Given the description of an element on the screen output the (x, y) to click on. 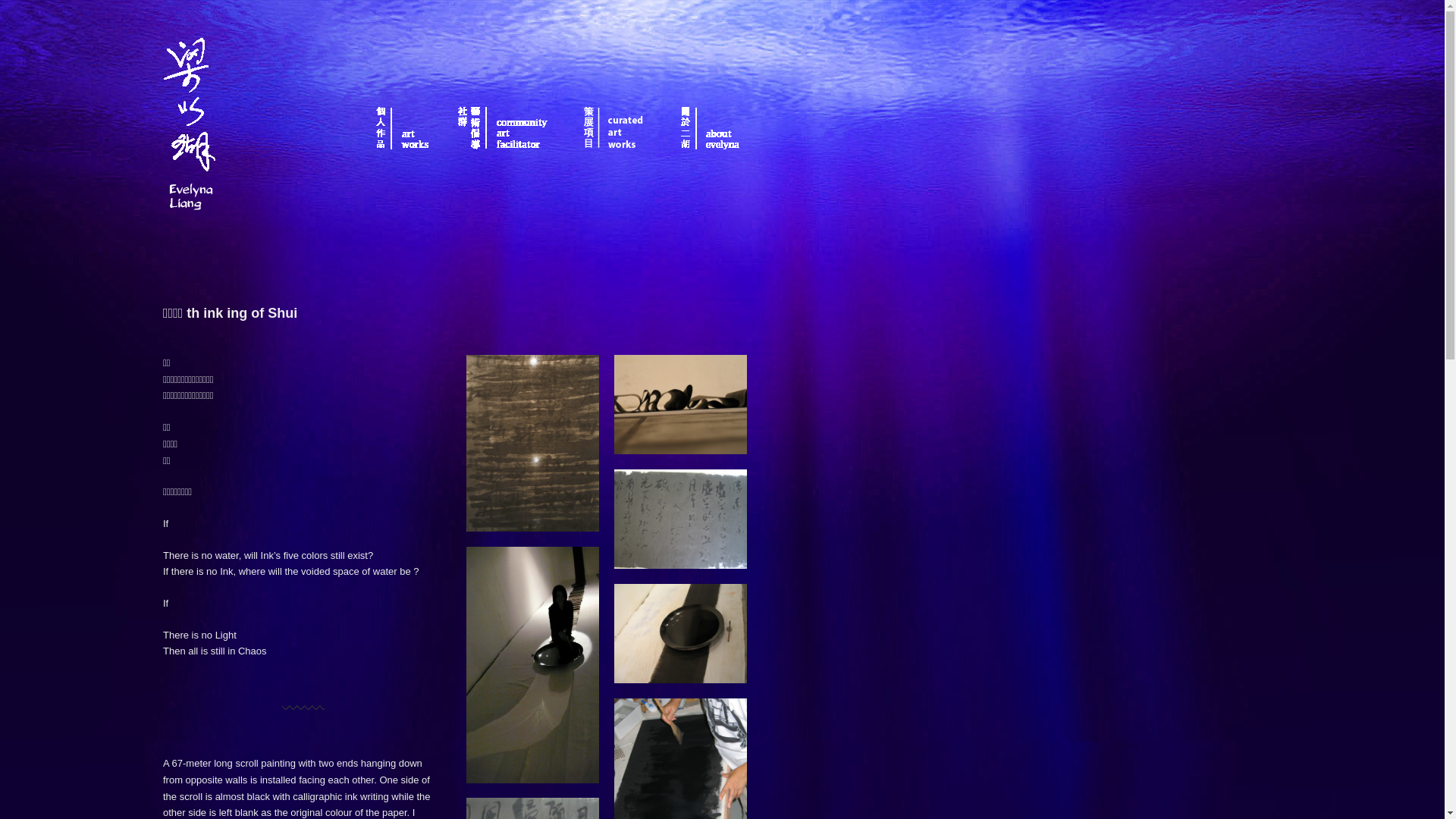
ink-write Element type: hover (680, 633)
folding-hills Element type: hover (680, 404)
image013 Element type: hover (532, 442)
image003 Element type: hover (680, 518)
looking-for-light Element type: hover (532, 664)
